Given the description of an element on the screen output the (x, y) to click on. 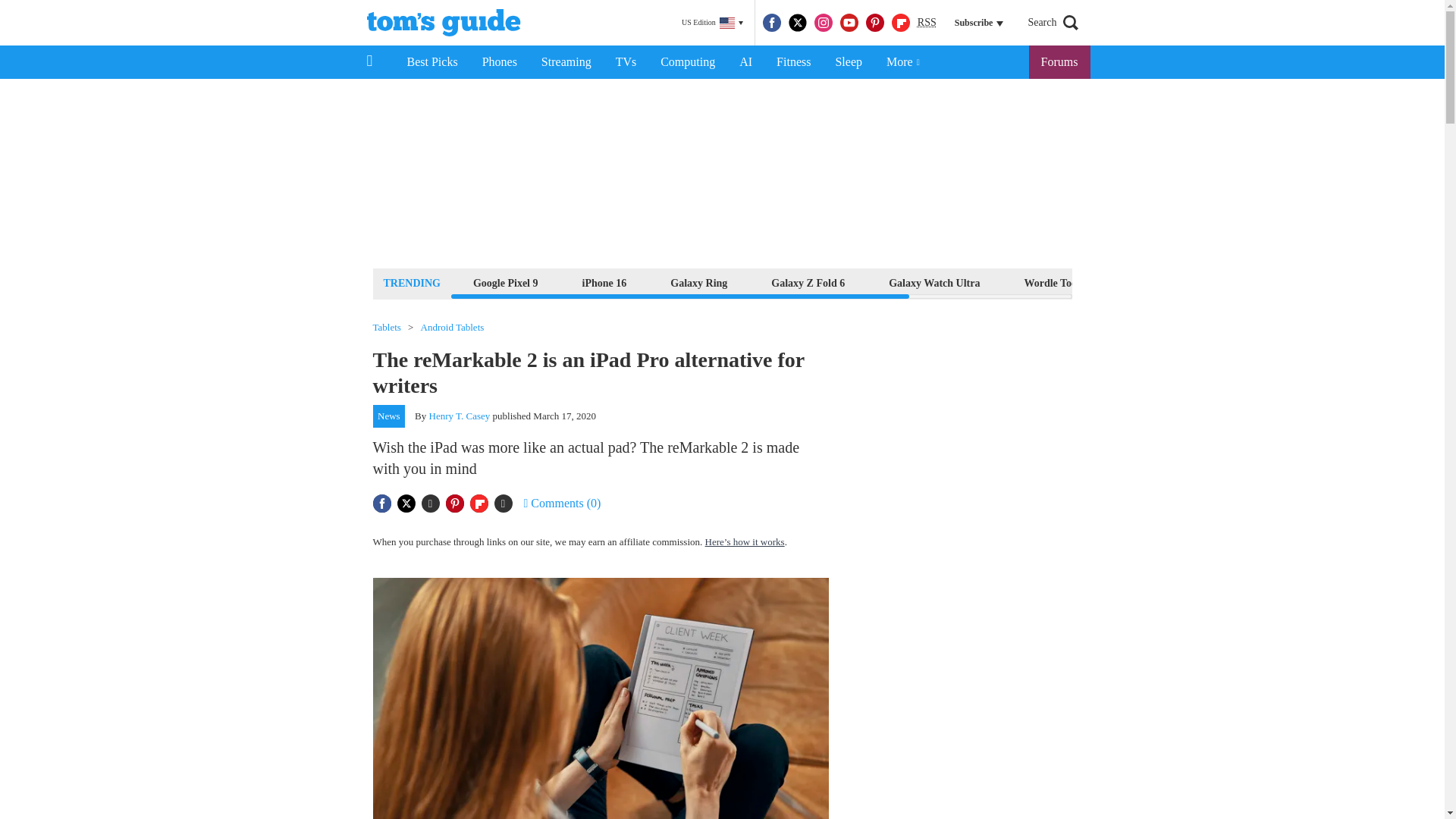
Computing (686, 61)
Really Simple Syndication (926, 21)
Sleep (848, 61)
TVs (626, 61)
Phones (499, 61)
Fitness (793, 61)
AI (745, 61)
Best Picks (431, 61)
Streaming (566, 61)
US Edition (712, 22)
RSS (926, 22)
